Given the description of an element on the screen output the (x, y) to click on. 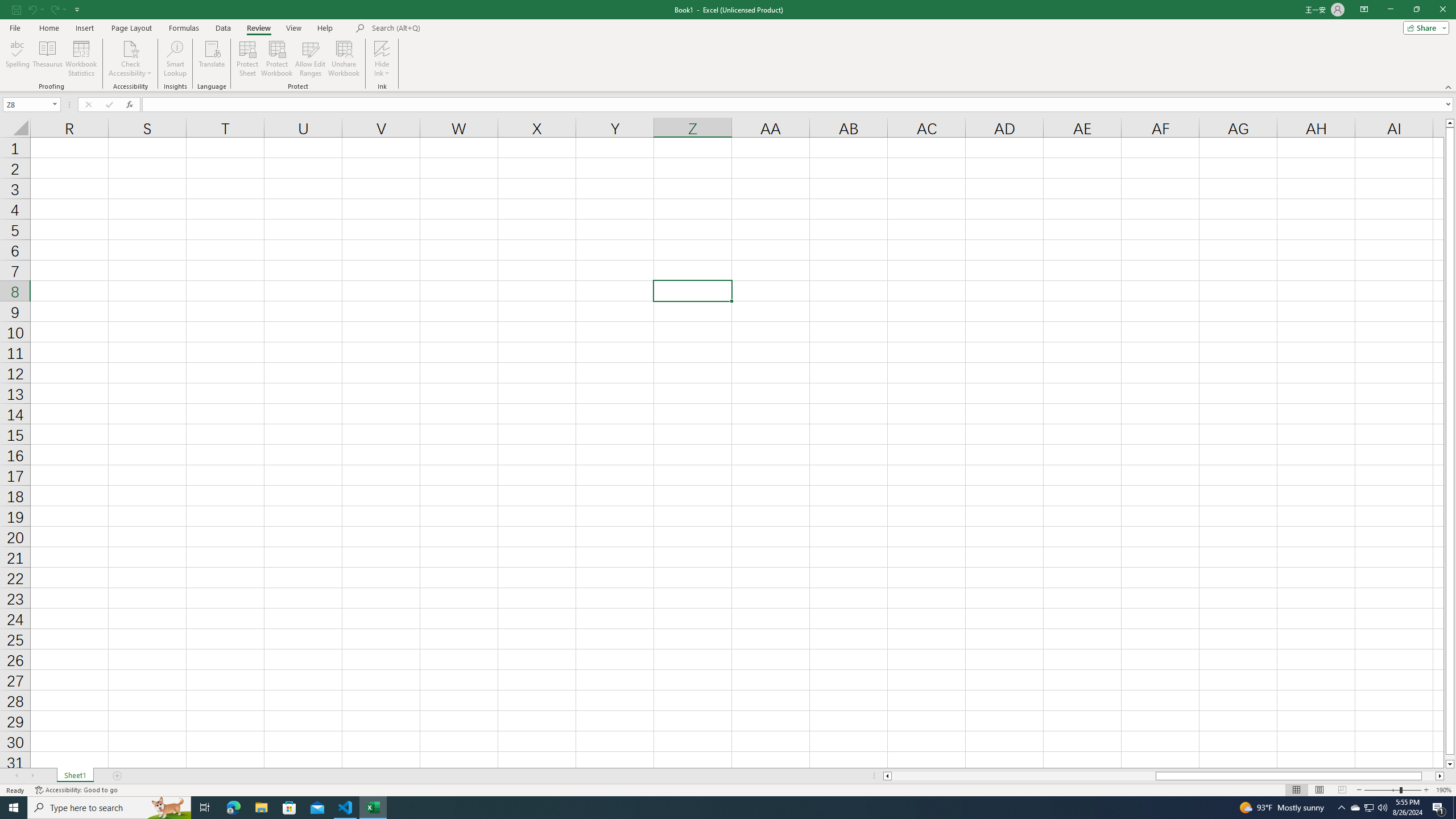
Unshare Workbook (344, 58)
Allow Edit Ranges (310, 58)
Protect Workbook... (277, 58)
Check Accessibility (129, 58)
Hide Ink (381, 58)
